Given the description of an element on the screen output the (x, y) to click on. 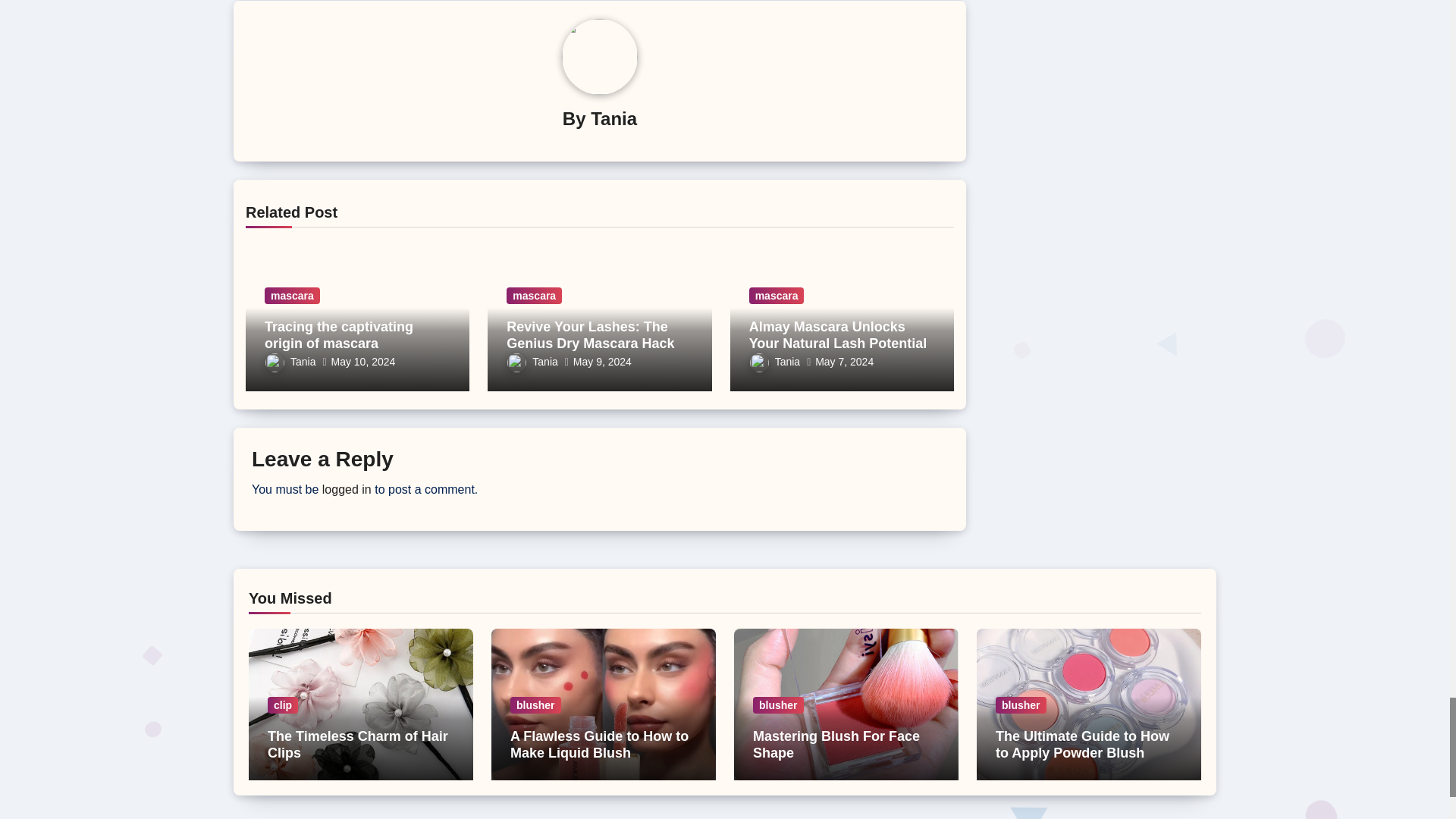
Permalink to: The Timeless Charm of Hair Clips (357, 744)
Permalink to: A Flawless Guide to How to Make Liquid Blush (599, 744)
Permalink to: Mastering Blush For Face Shape (836, 744)
Permalink to: Tracing the captivating origin of mascara (338, 335)
